Given the description of an element on the screen output the (x, y) to click on. 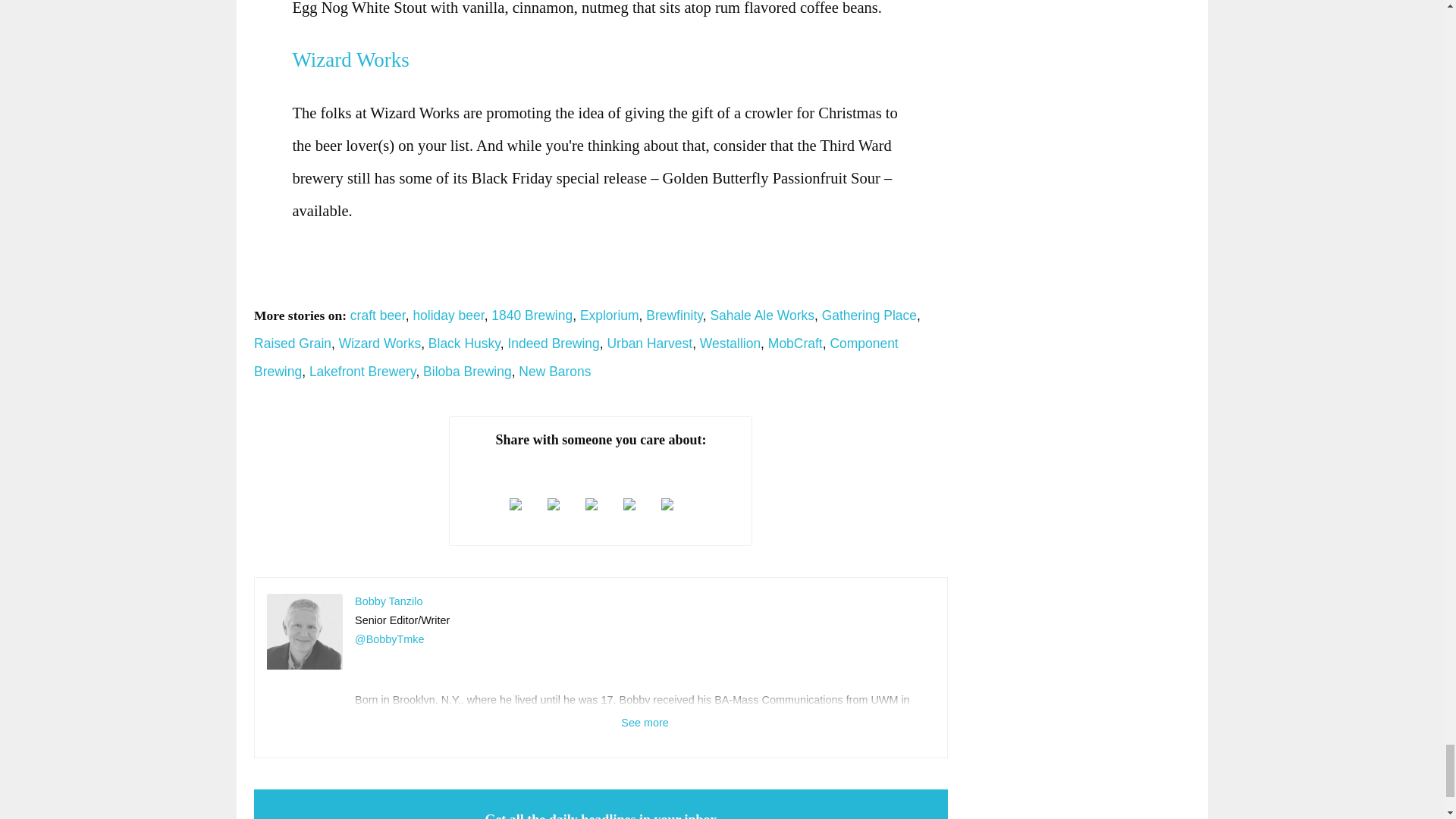
Bobby Tanzilo (304, 631)
More articles by Bobby Tanzilo (388, 601)
